Given the description of an element on the screen output the (x, y) to click on. 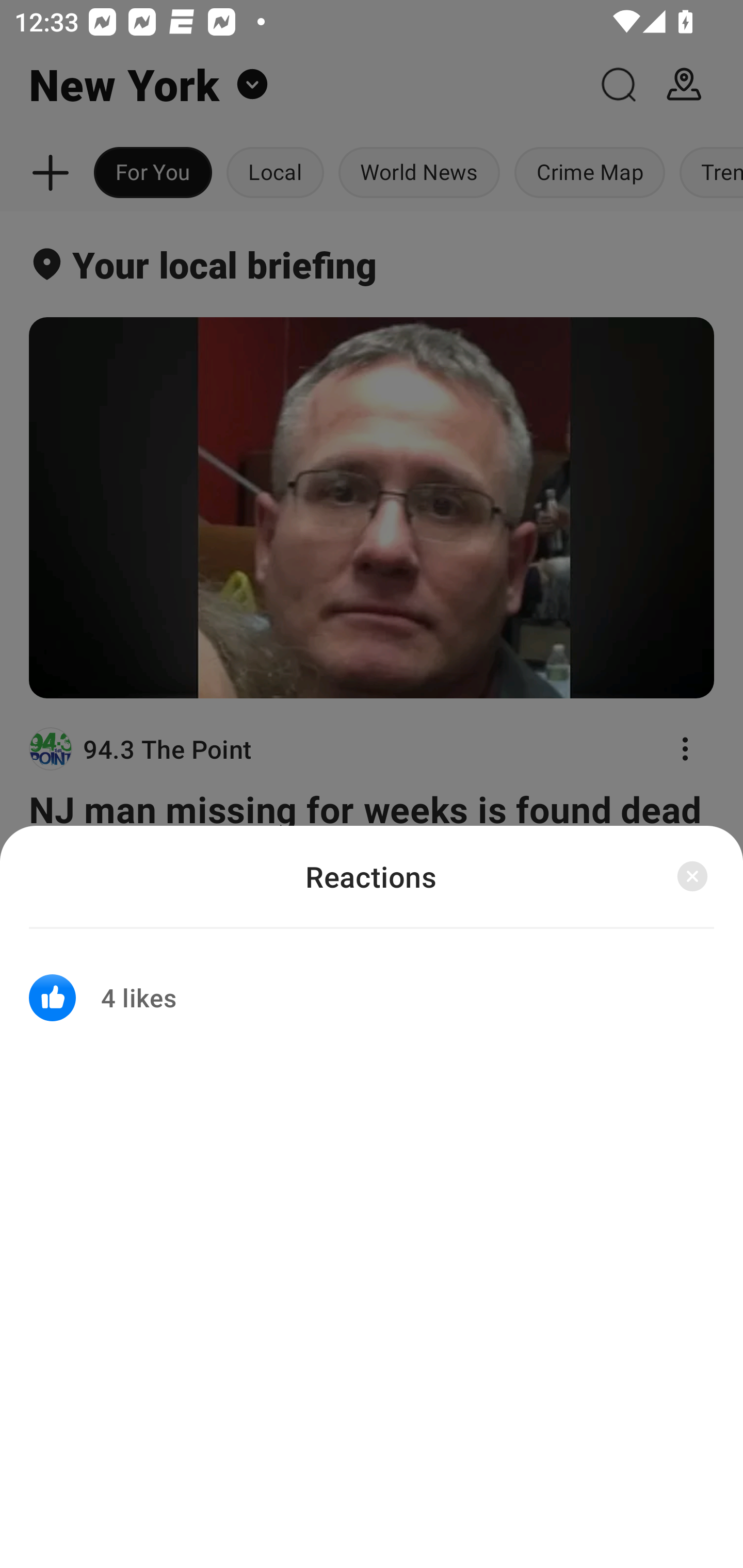
4 likes (371, 985)
